Given the description of an element on the screen output the (x, y) to click on. 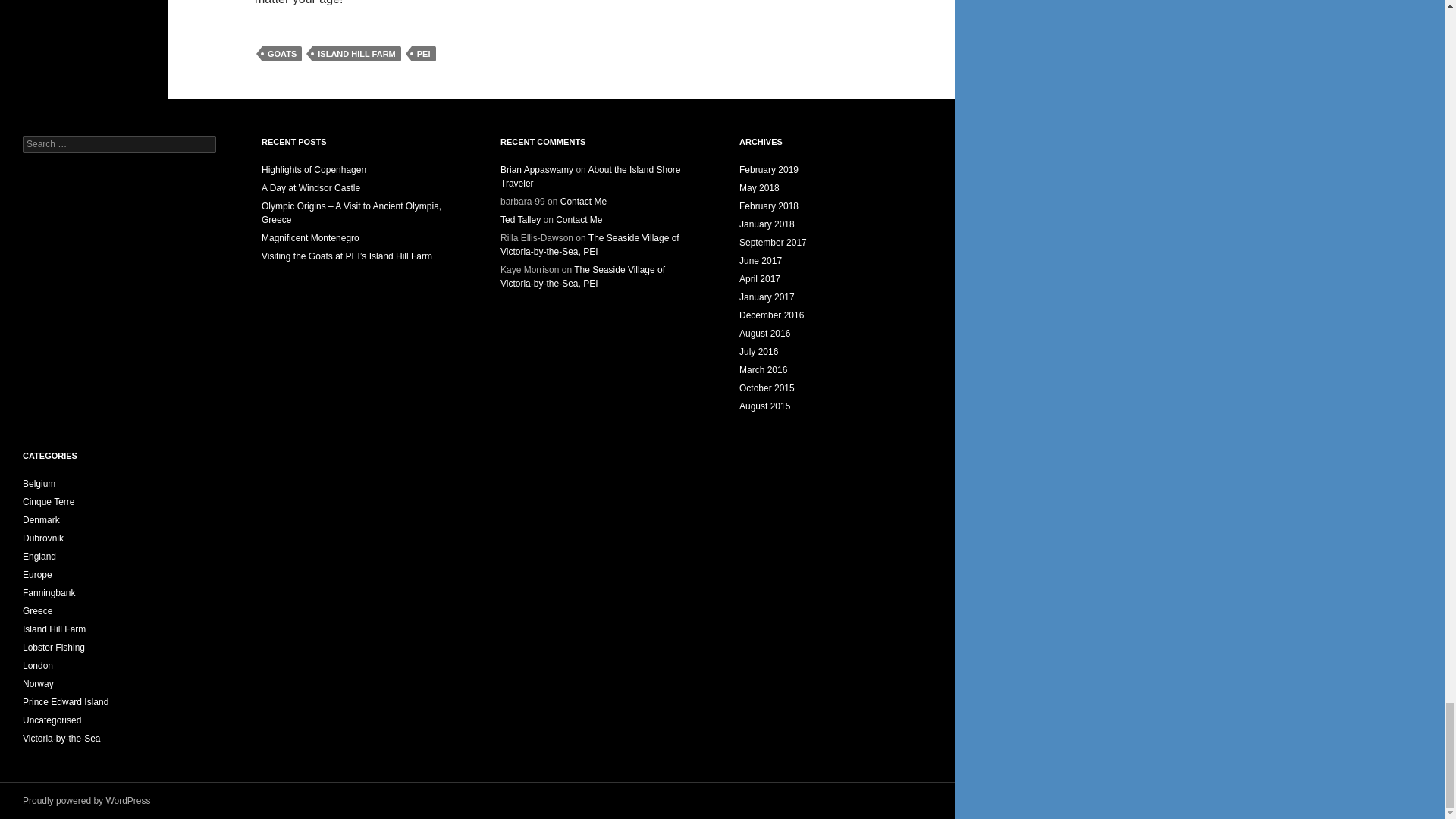
ISLAND HILL FARM (356, 53)
GOATS (281, 53)
PEI (423, 53)
